Given the description of an element on the screen output the (x, y) to click on. 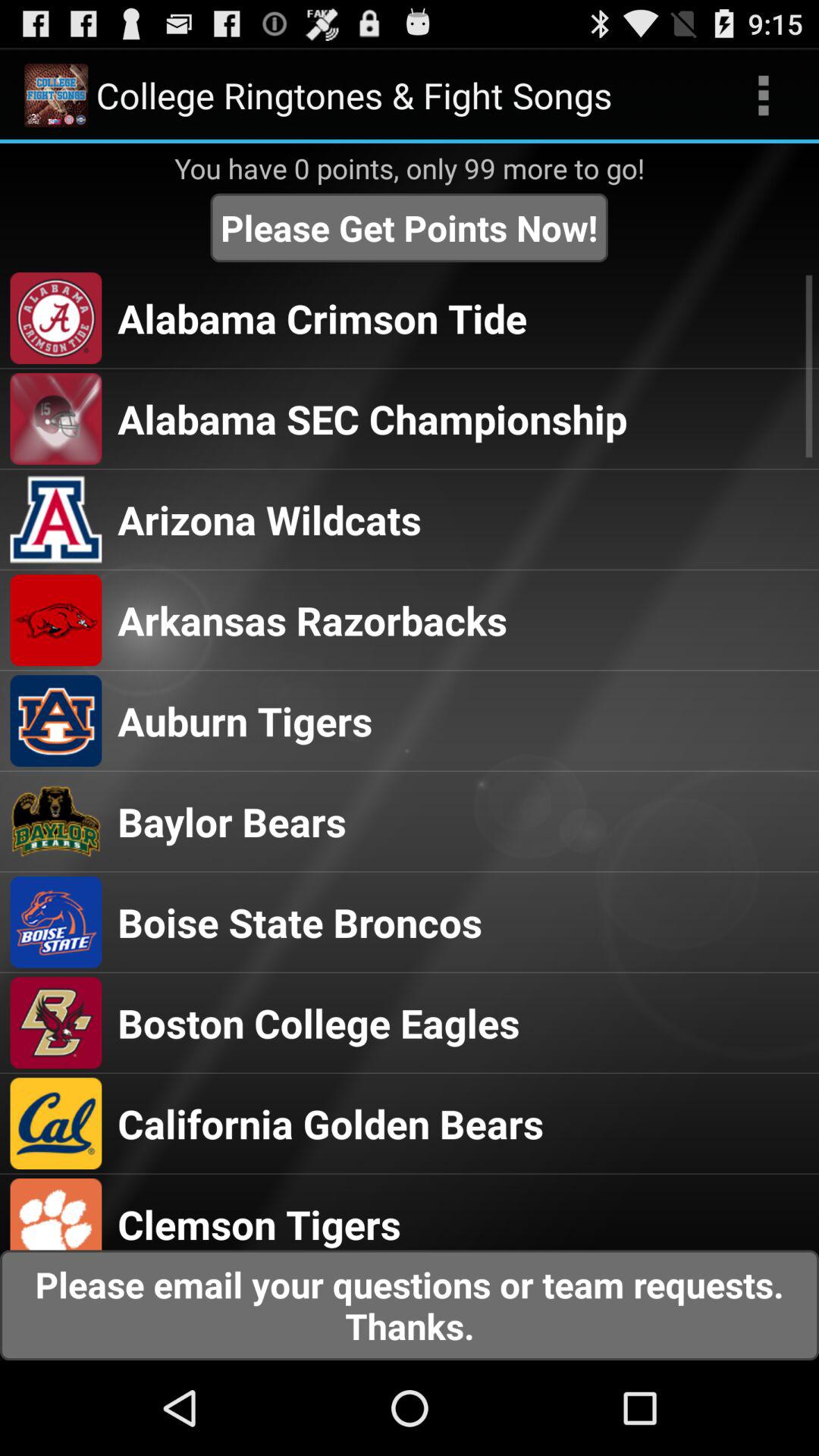
flip to alabama crimson tide item (322, 317)
